Given the description of an element on the screen output the (x, y) to click on. 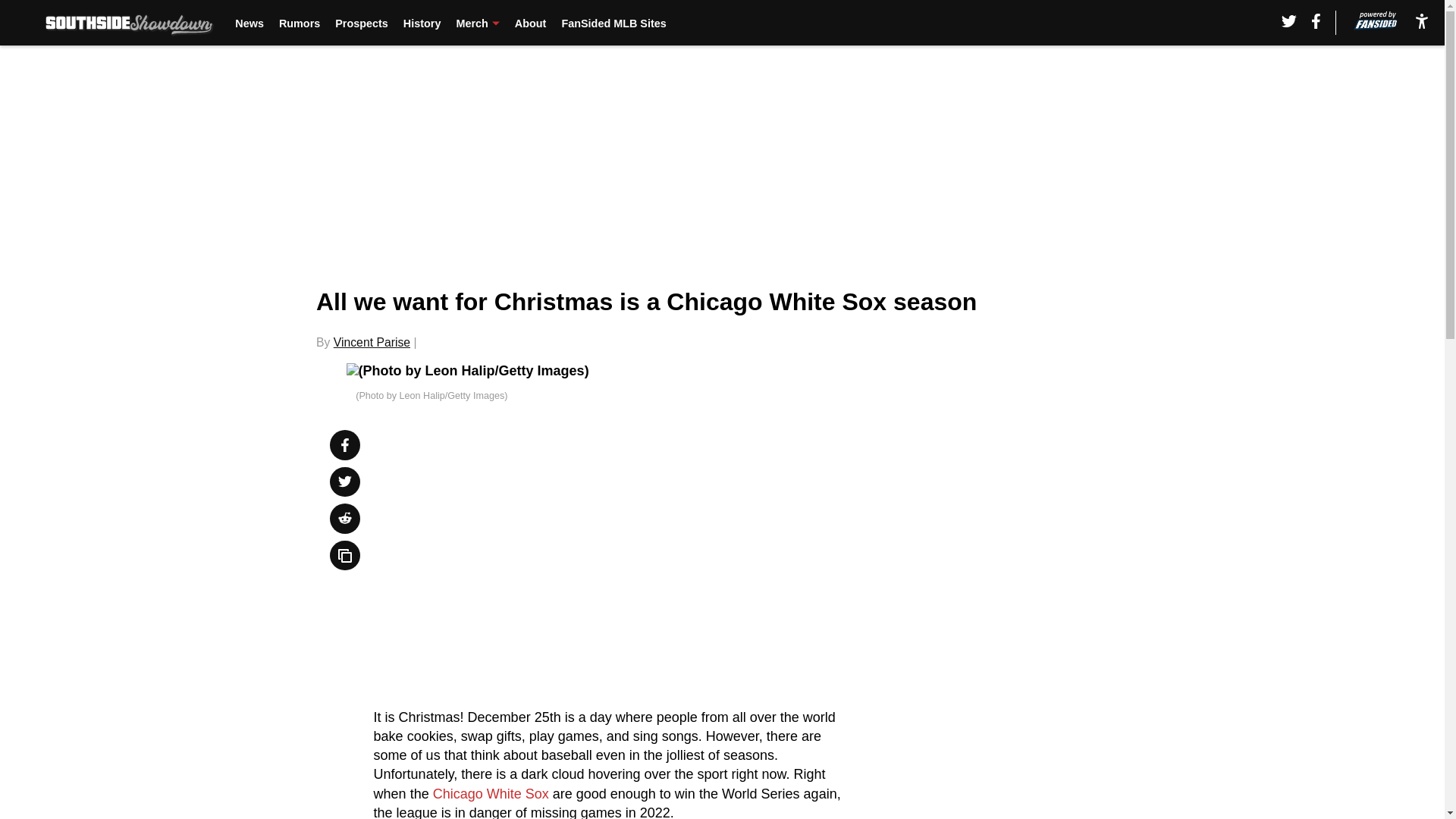
News (248, 23)
Vincent Parise (371, 341)
History (422, 23)
Chicago White Sox (488, 793)
FanSided MLB Sites (612, 23)
Rumors (299, 23)
Prospects (361, 23)
About (531, 23)
